Given the description of an element on the screen output the (x, y) to click on. 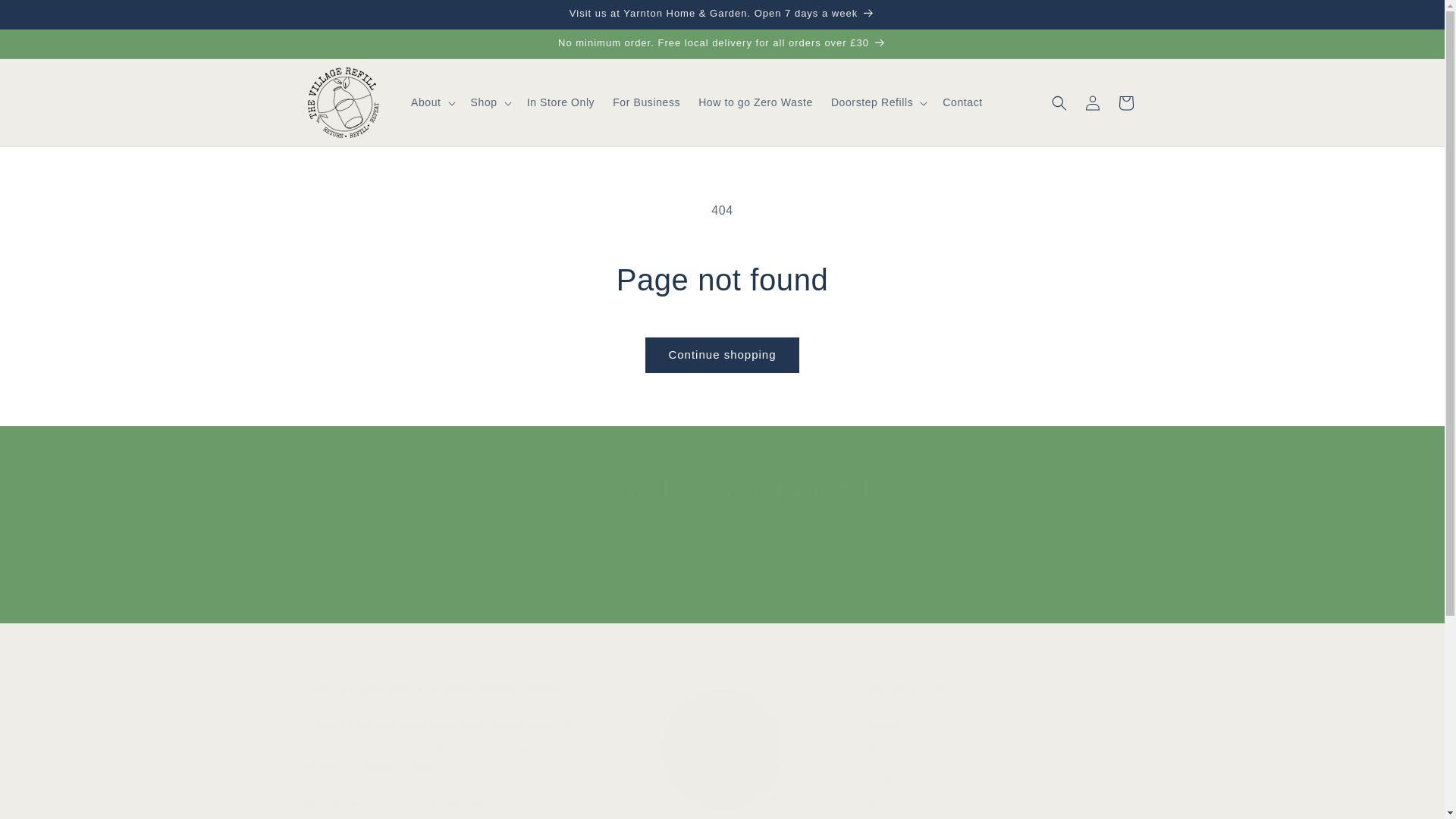
Email (722, 580)
Skip to content (1003, 749)
Subscribe to our emails (45, 17)
